Given the description of an element on the screen output the (x, y) to click on. 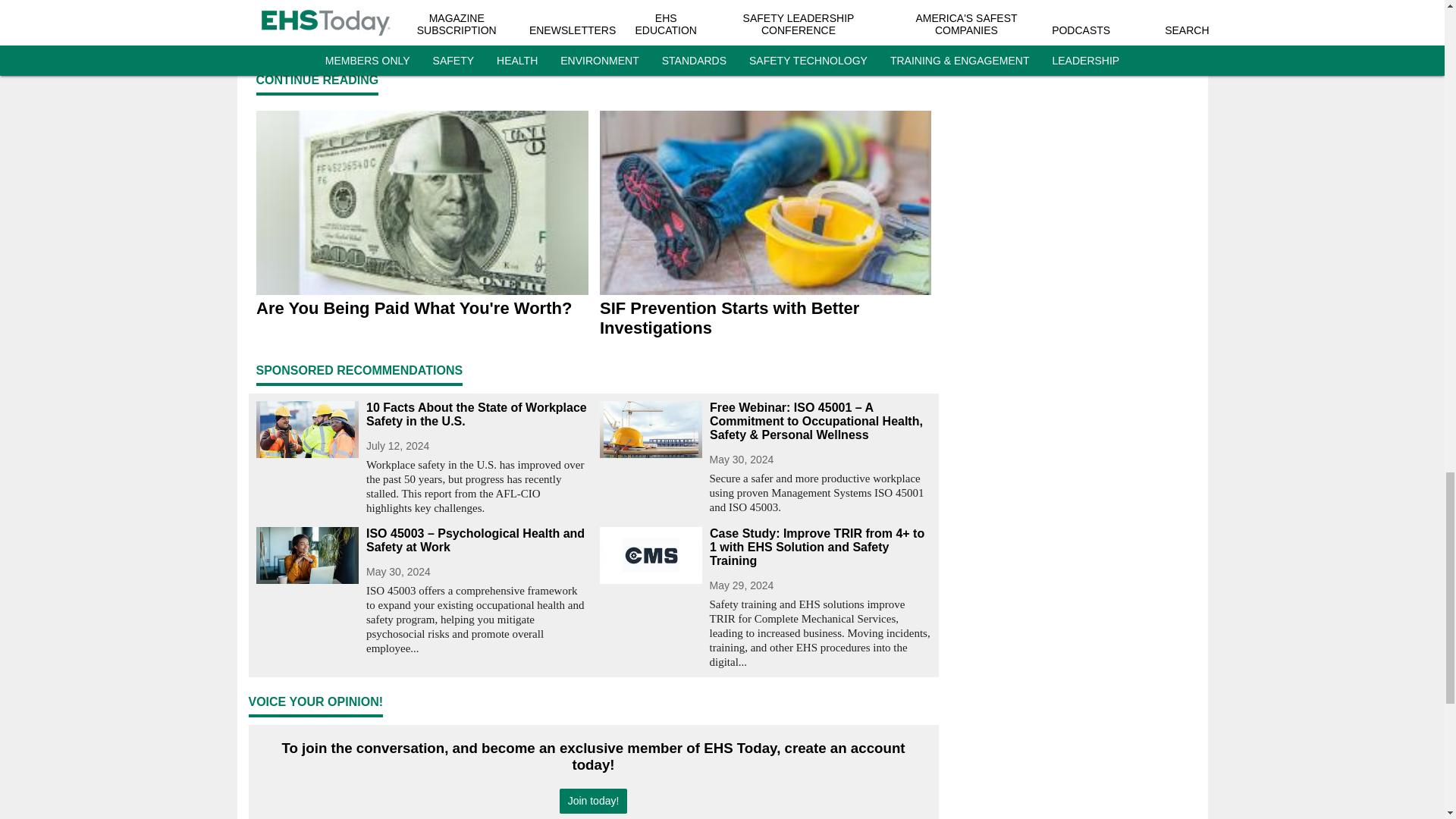
10 Facts About the State of Workplace Safety in the U.S. (476, 414)
Join today! (593, 801)
SIF Prevention Starts with Better Investigations (764, 318)
Are You Being Paid What You're Worth? (422, 308)
